Given the description of an element on the screen output the (x, y) to click on. 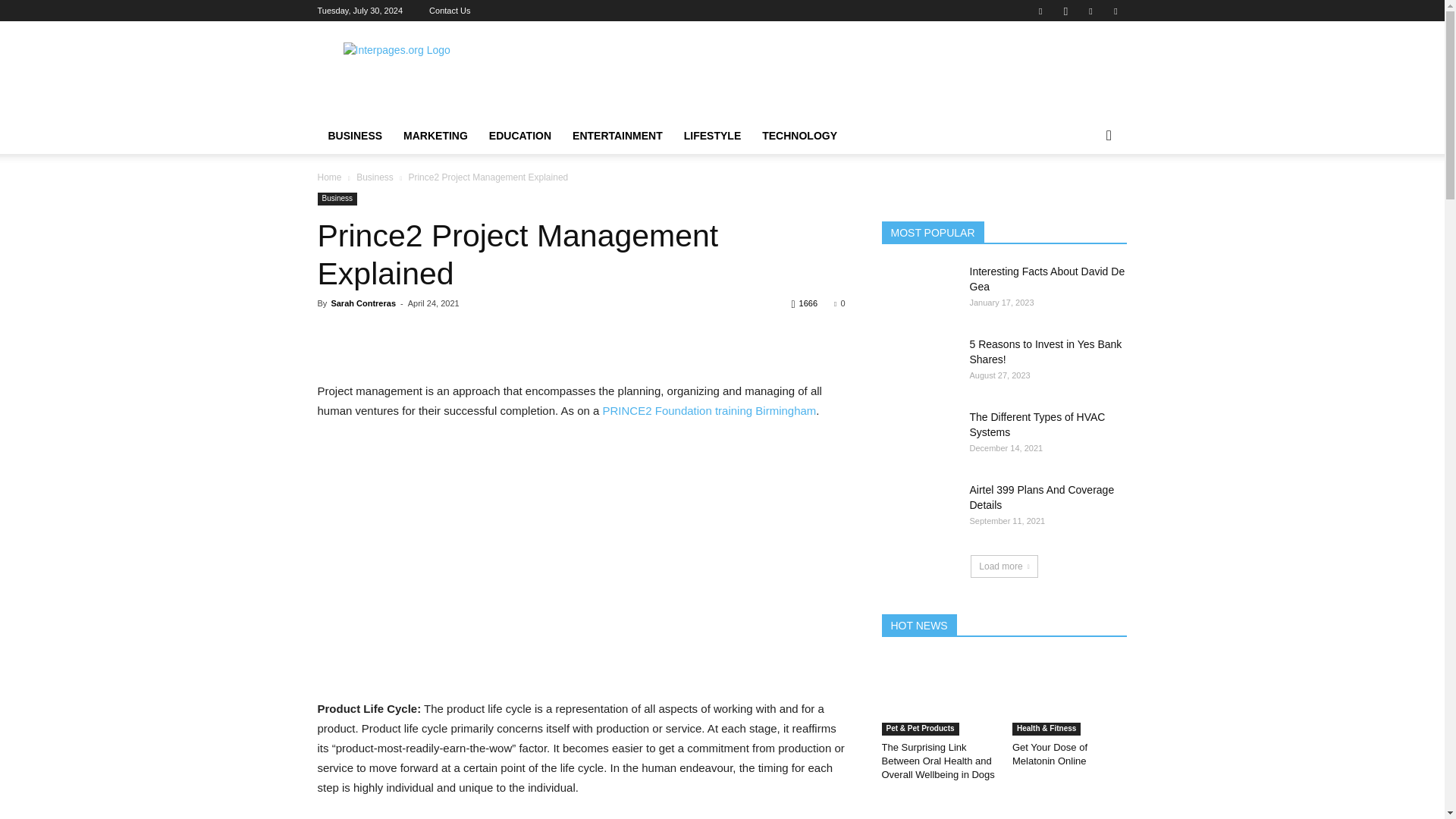
View all posts in Business (374, 176)
Pinterest (1090, 10)
Interpages.org Logo (445, 76)
Facebook (1040, 10)
Tumblr (1114, 10)
Instagram (1065, 10)
